Given the description of an element on the screen output the (x, y) to click on. 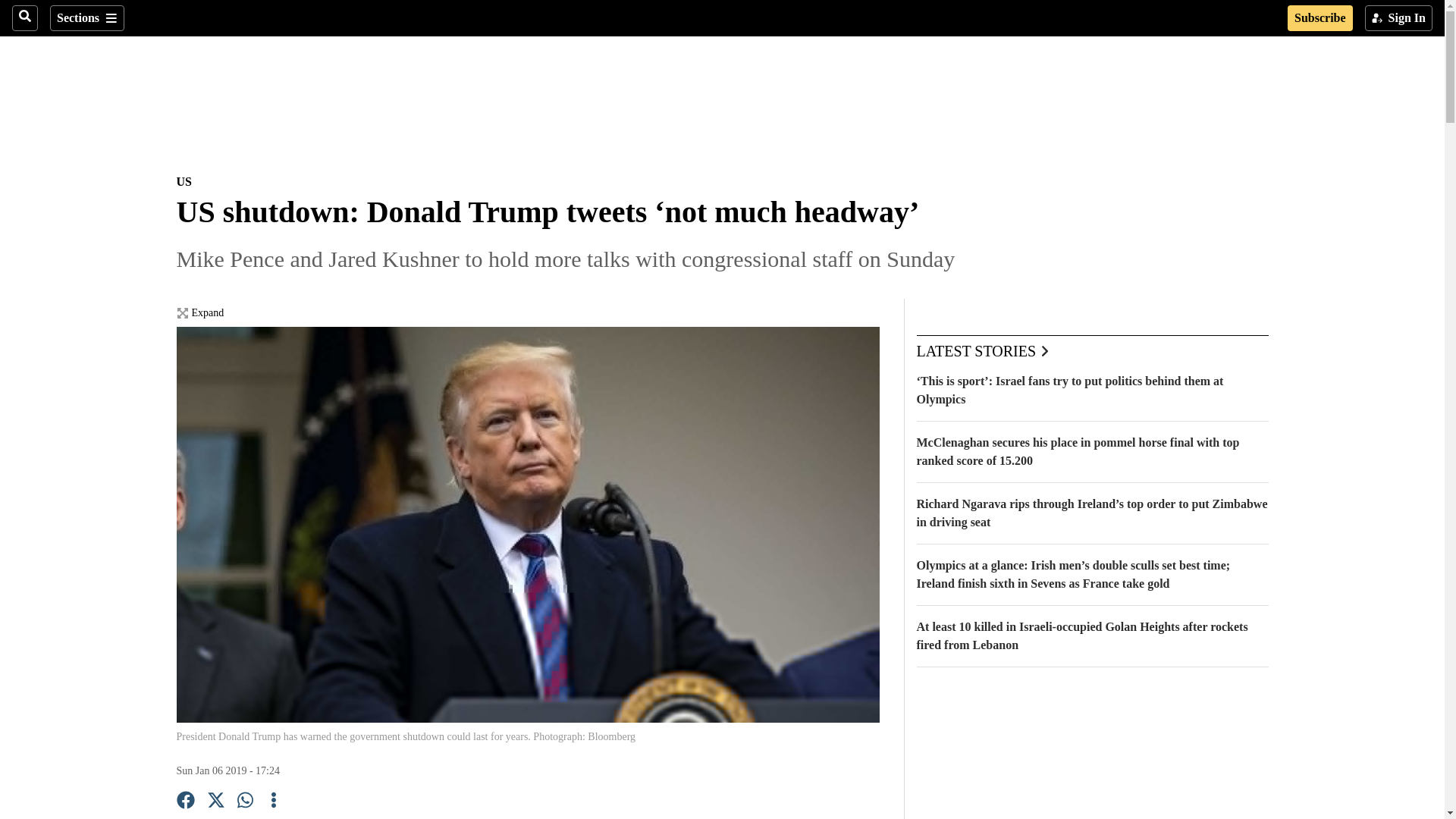
Facebook (184, 802)
X (215, 802)
Sections (86, 17)
Subscribe (1319, 17)
Sign In (1398, 17)
WhatsApp (244, 802)
